Given the description of an element on the screen output the (x, y) to click on. 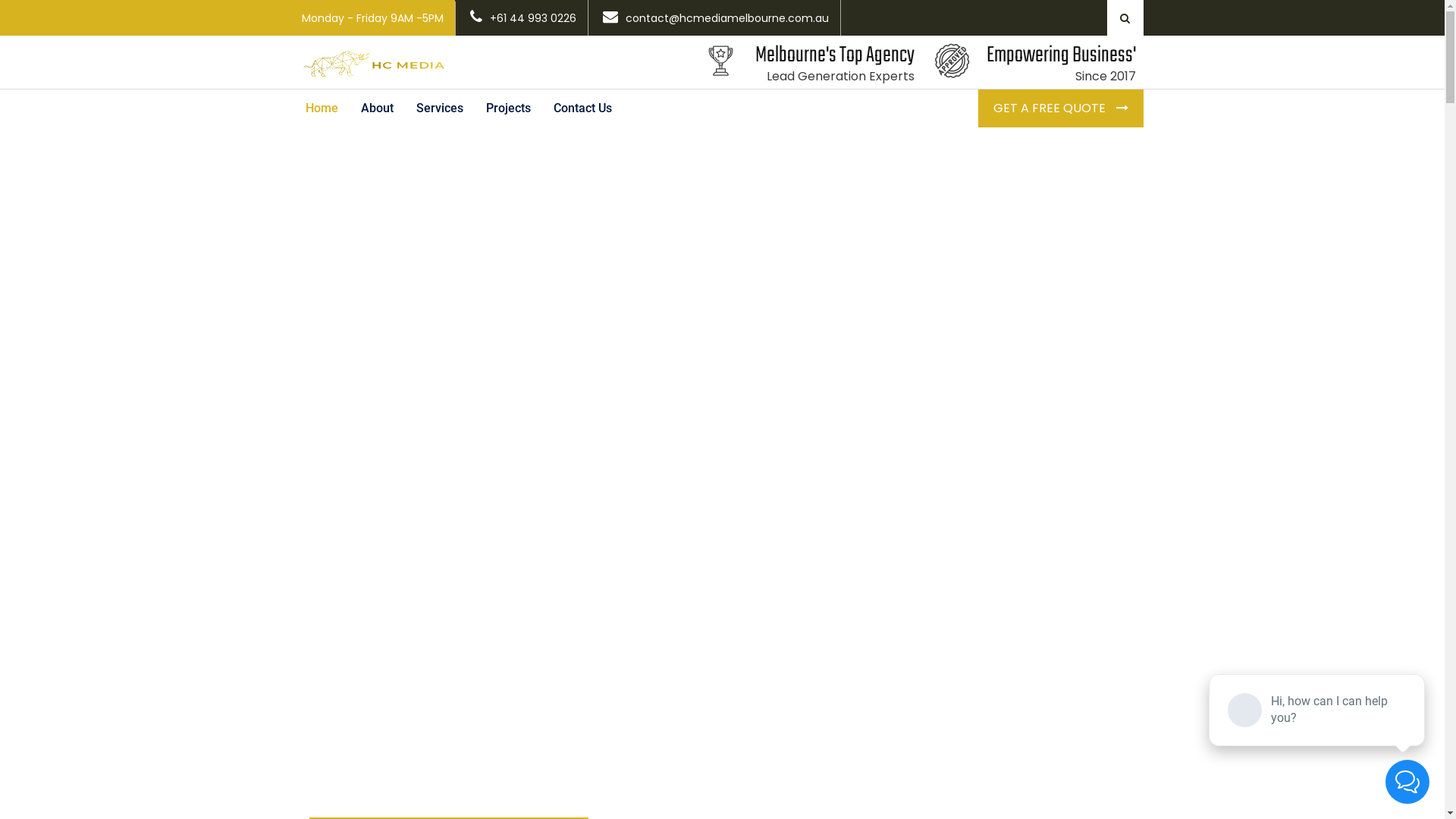
Projects Element type: text (508, 108)
Home Element type: text (321, 108)
Contact Us Element type: text (581, 108)
About Element type: text (376, 108)
GET A FREE QUOTE Element type: text (1060, 108)
Services Element type: text (439, 108)
